Given the description of an element on the screen output the (x, y) to click on. 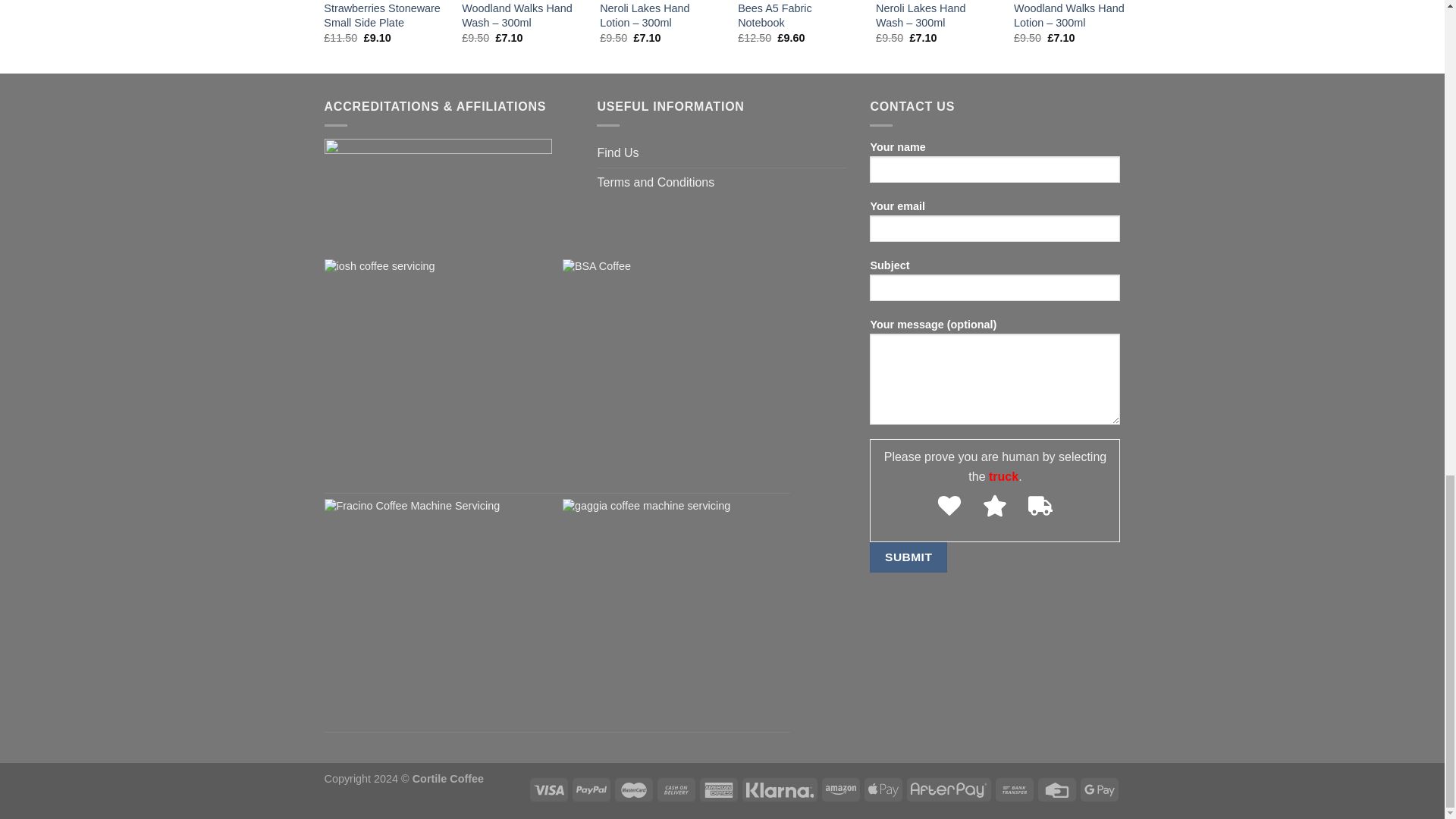
Submit (907, 556)
